Given the description of an element on the screen output the (x, y) to click on. 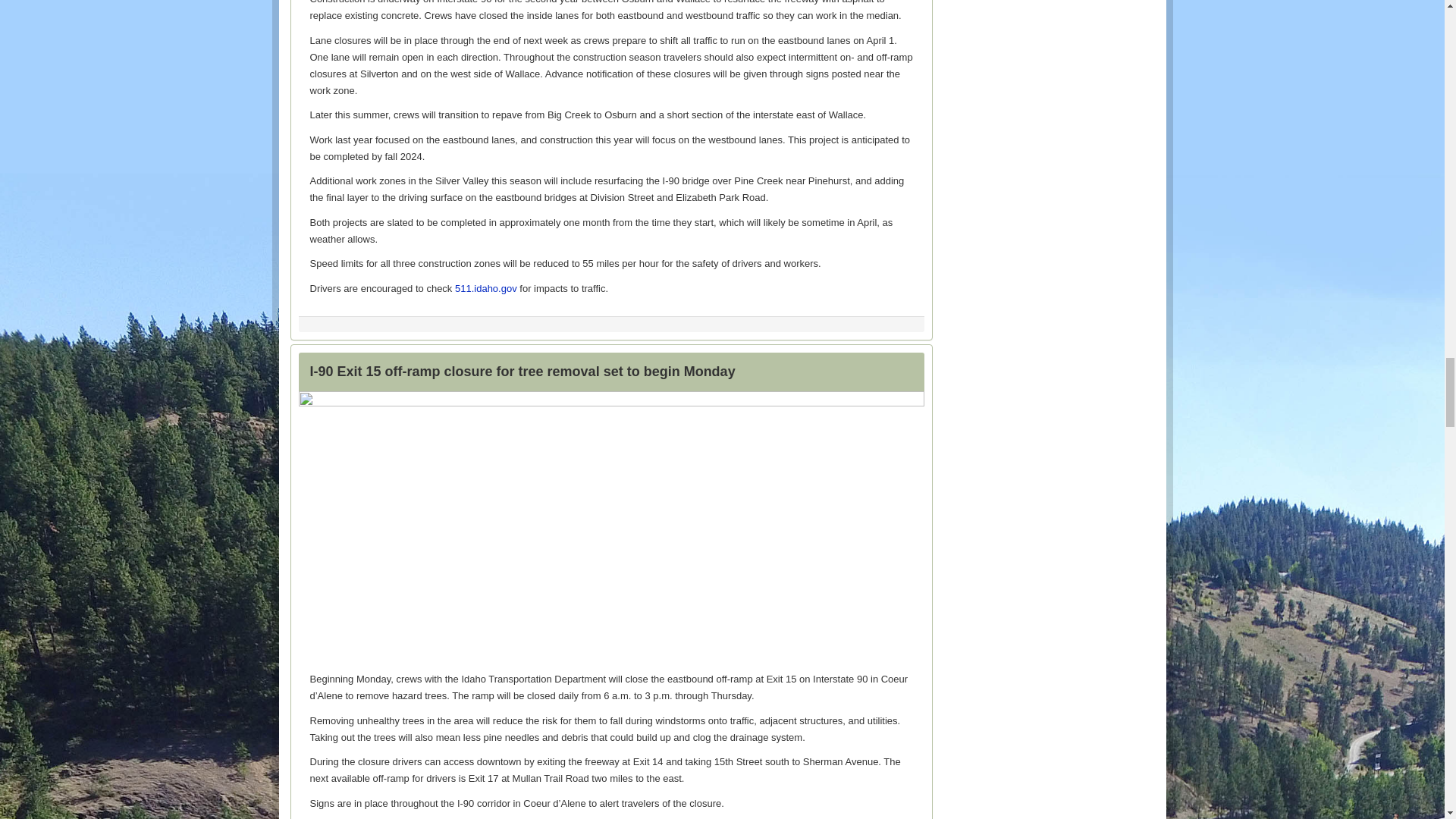
511.idaho.gov (485, 288)
